Given the description of an element on the screen output the (x, y) to click on. 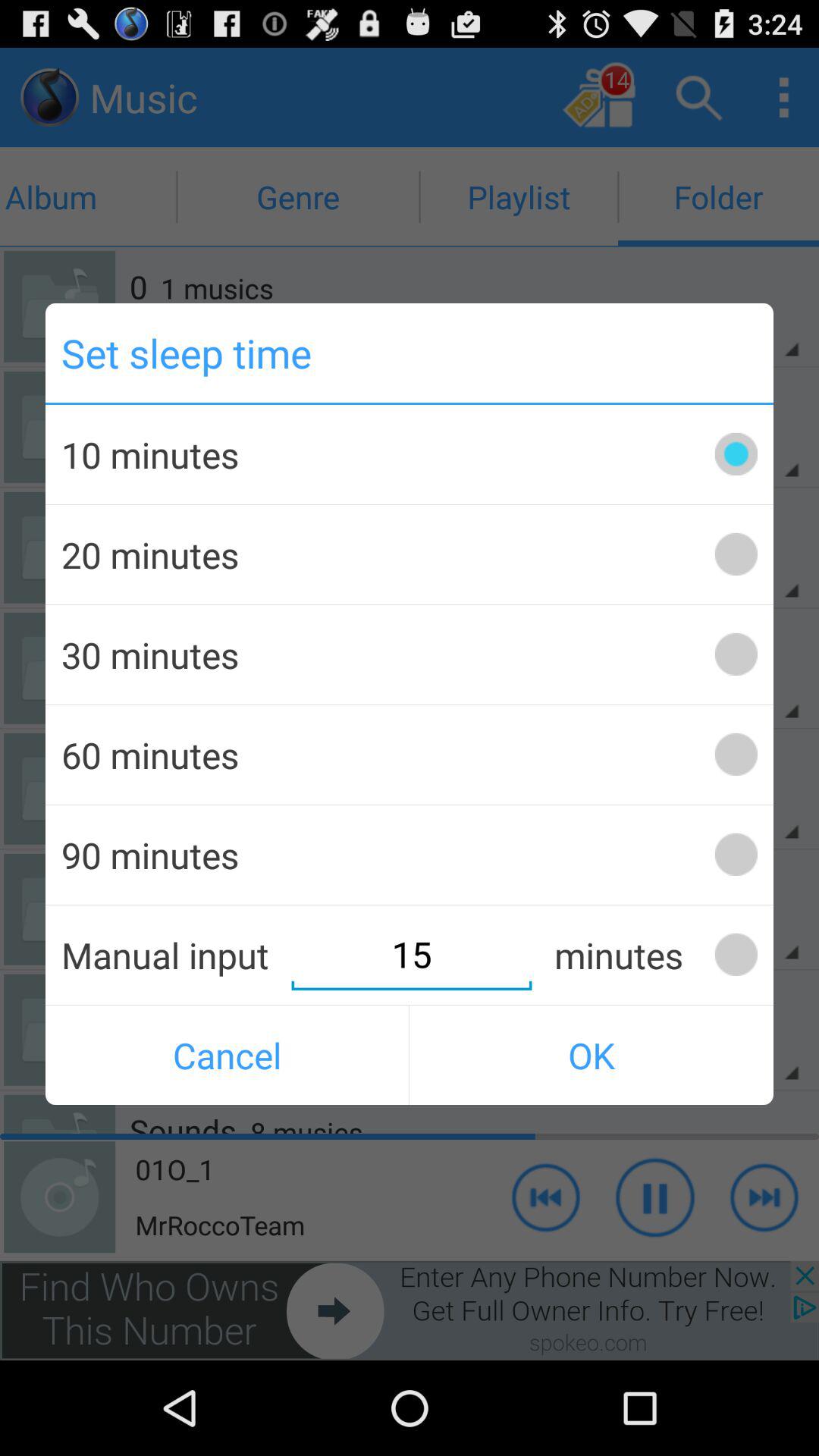
toggle manual minutes button on (735, 954)
